Given the description of an element on the screen output the (x, y) to click on. 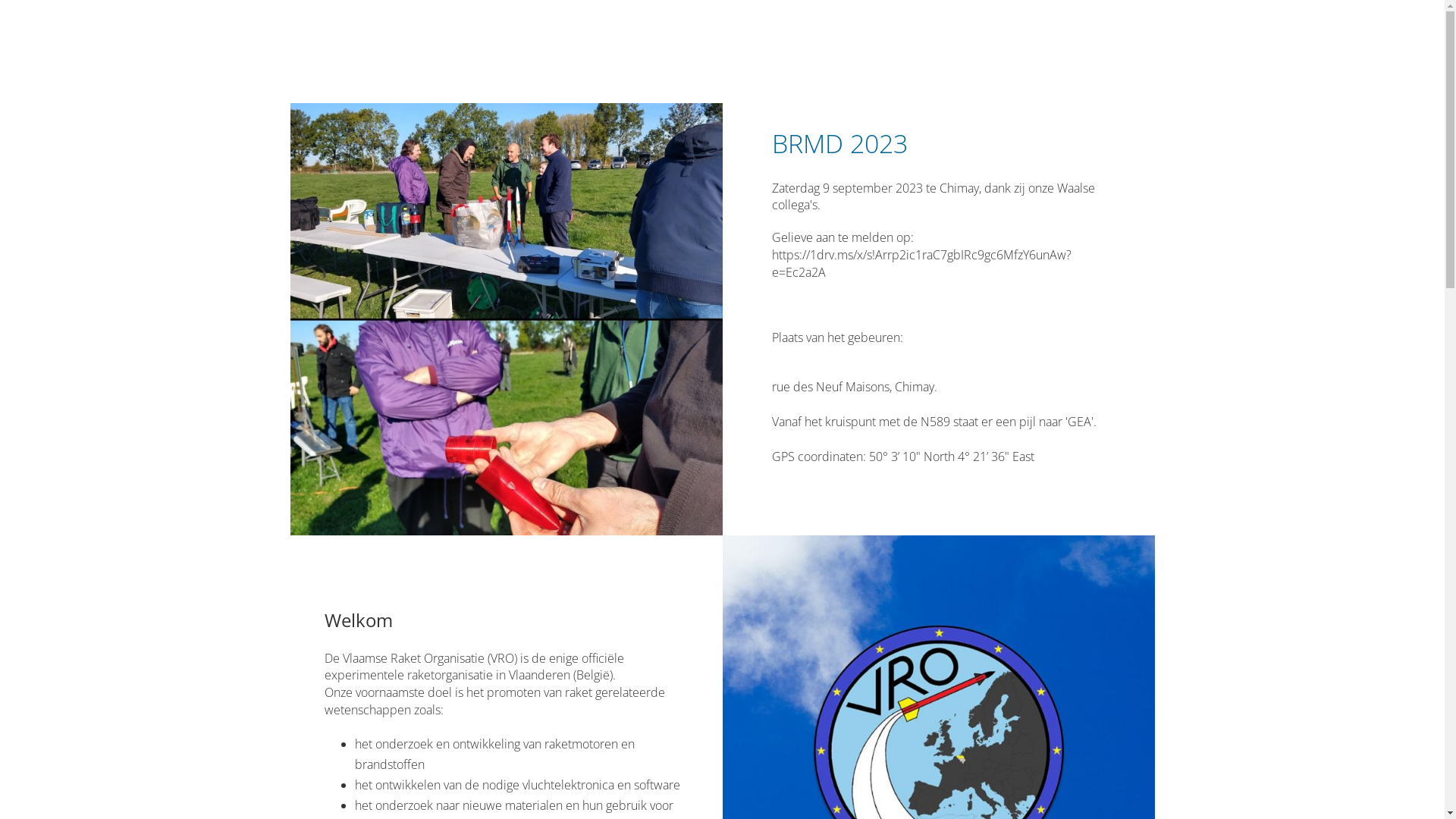
YouTube Element type: text (1122, 42)
Welkom Element type: text (717, 42)
Foto's Element type: text (1061, 42)
Contact Element type: text (947, 42)
BRMD 2023 Element type: text (644, 42)
Geschiedenis Element type: text (793, 42)
Vlaamse Raket Organisatie Element type: text (422, 45)
Meer info? Element type: text (877, 42)
eShop Element type: text (1005, 42)
